Given the description of an element on the screen output the (x, y) to click on. 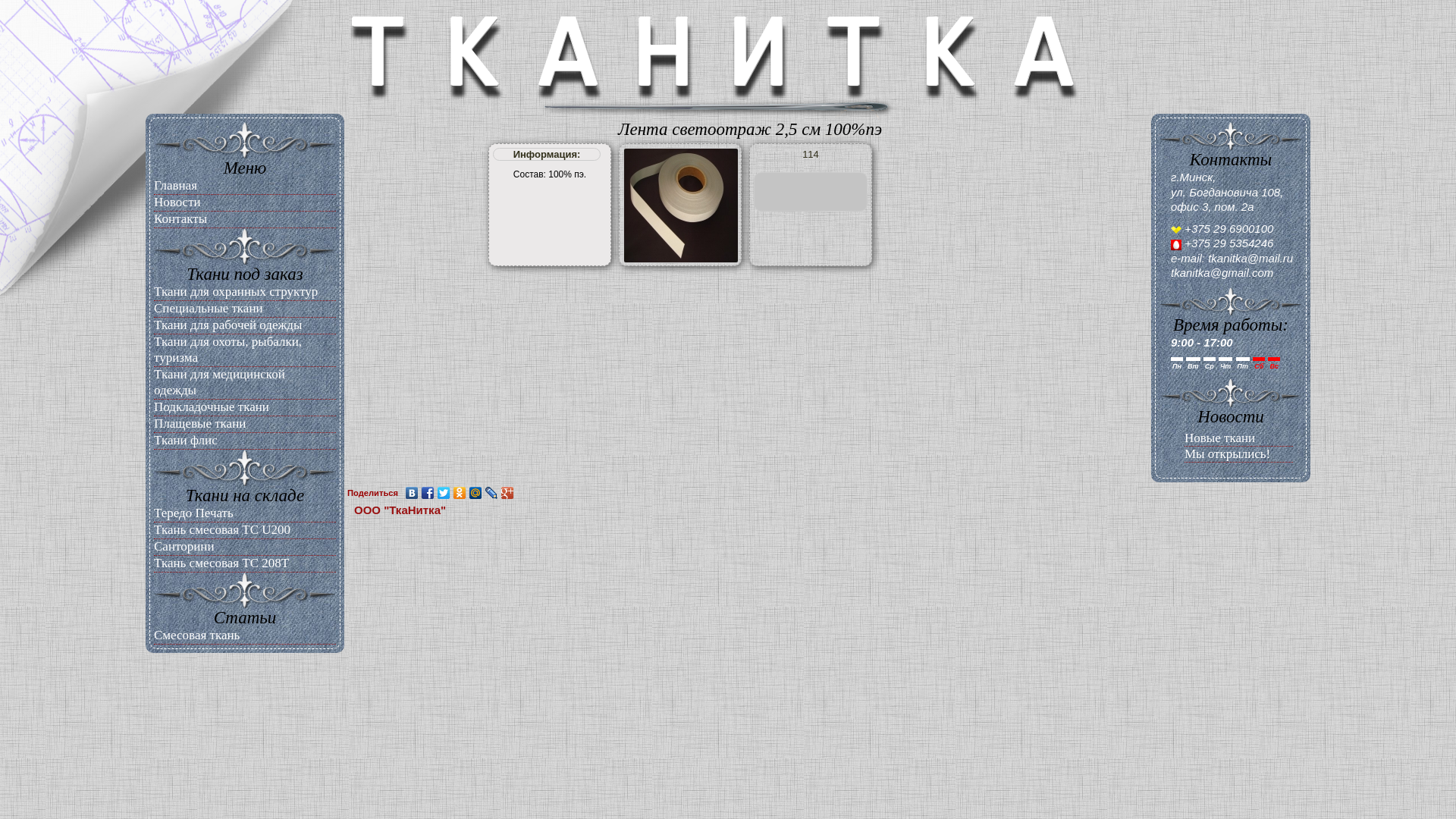
Twitter Element type: hover (443, 492)
Google Plus Element type: hover (507, 492)
Facebook Element type: hover (428, 492)
LiveJournal Element type: hover (491, 492)
